Given the description of an element on the screen output the (x, y) to click on. 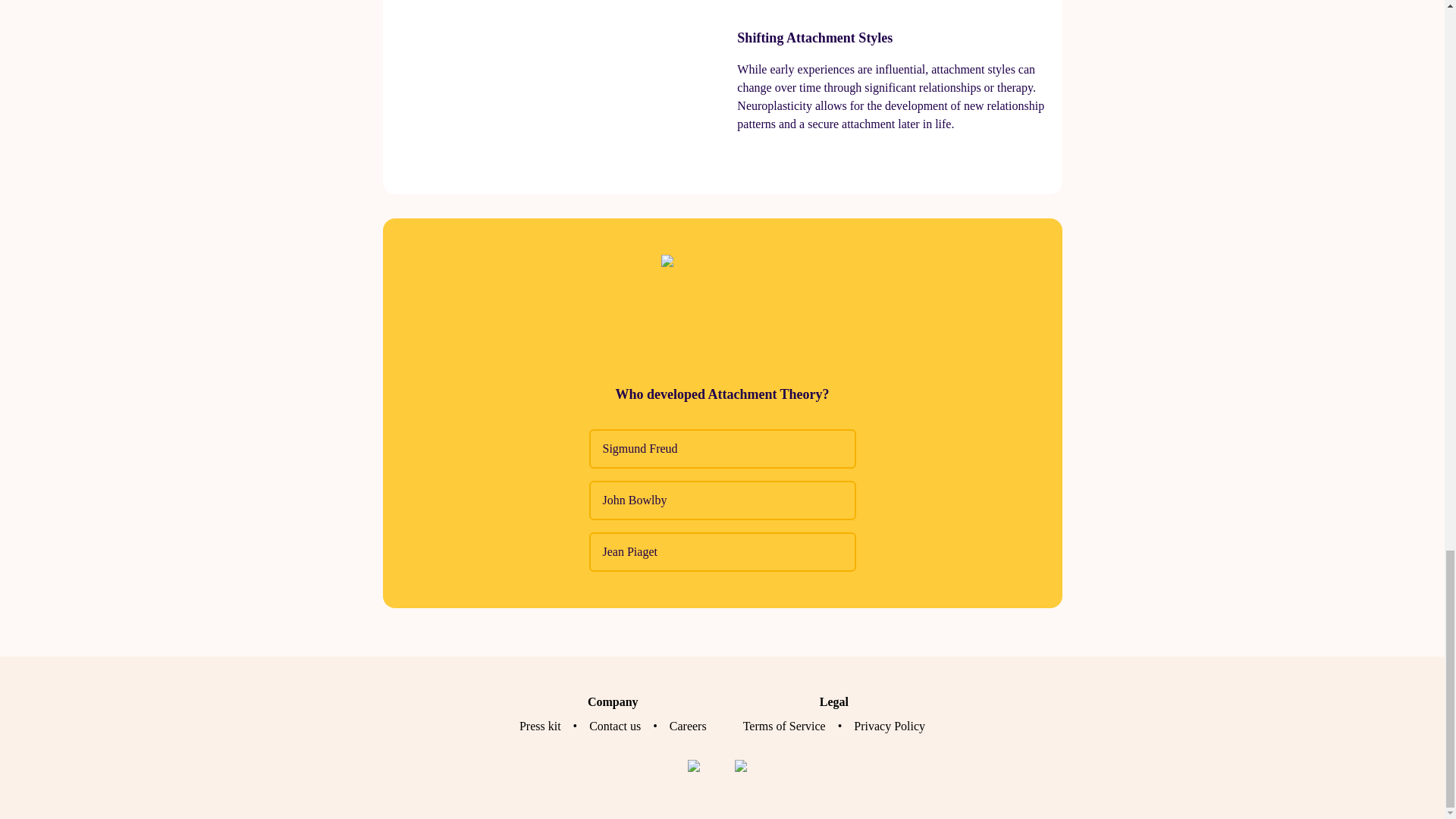
Terms of Service (783, 725)
Careers (687, 725)
Privacy Policy (888, 725)
Contact us (614, 725)
Press kit (539, 725)
